Given the description of an element on the screen output the (x, y) to click on. 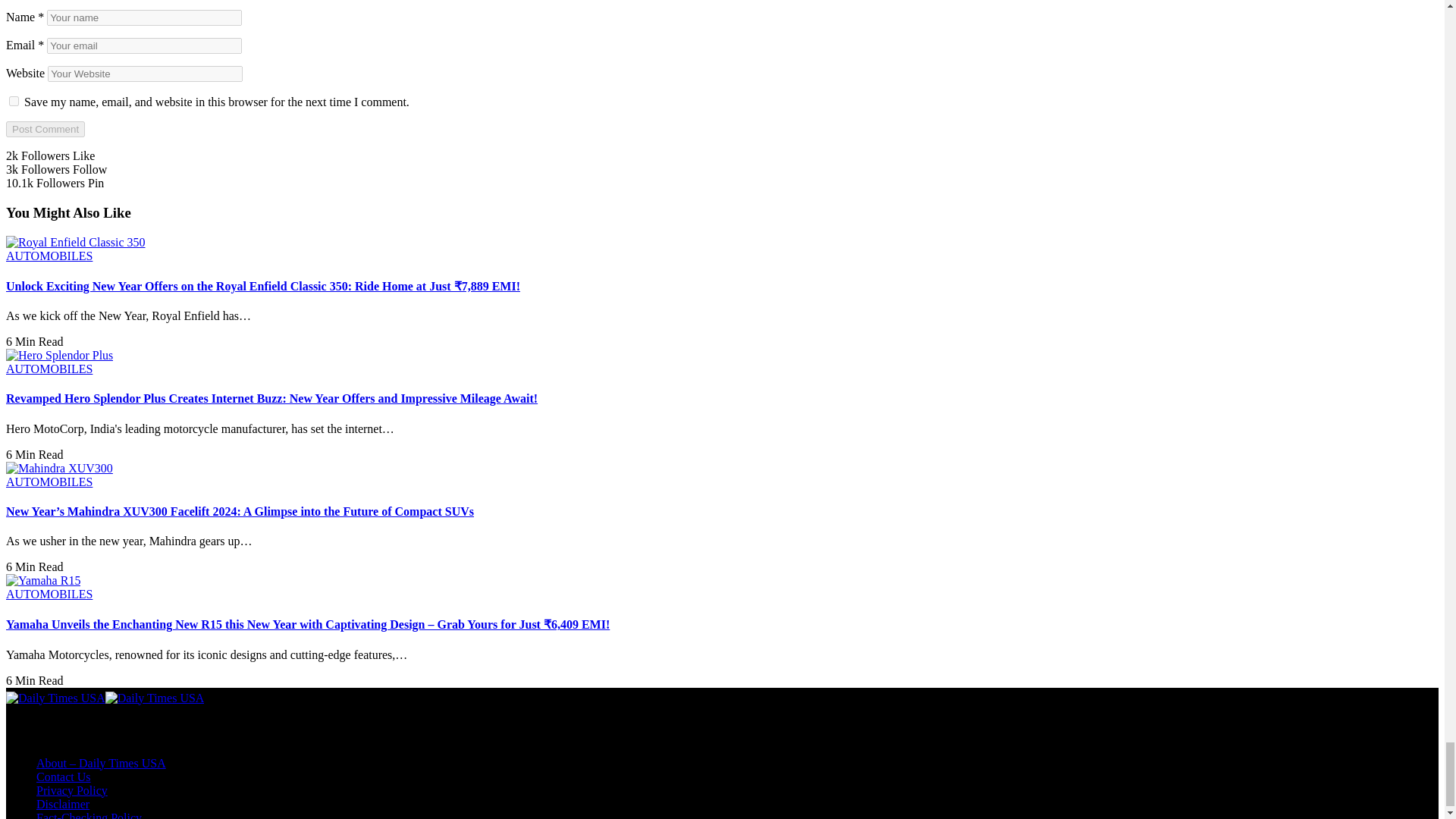
yes (13, 101)
Daily Times USA (104, 697)
Post Comment (44, 129)
